Given the description of an element on the screen output the (x, y) to click on. 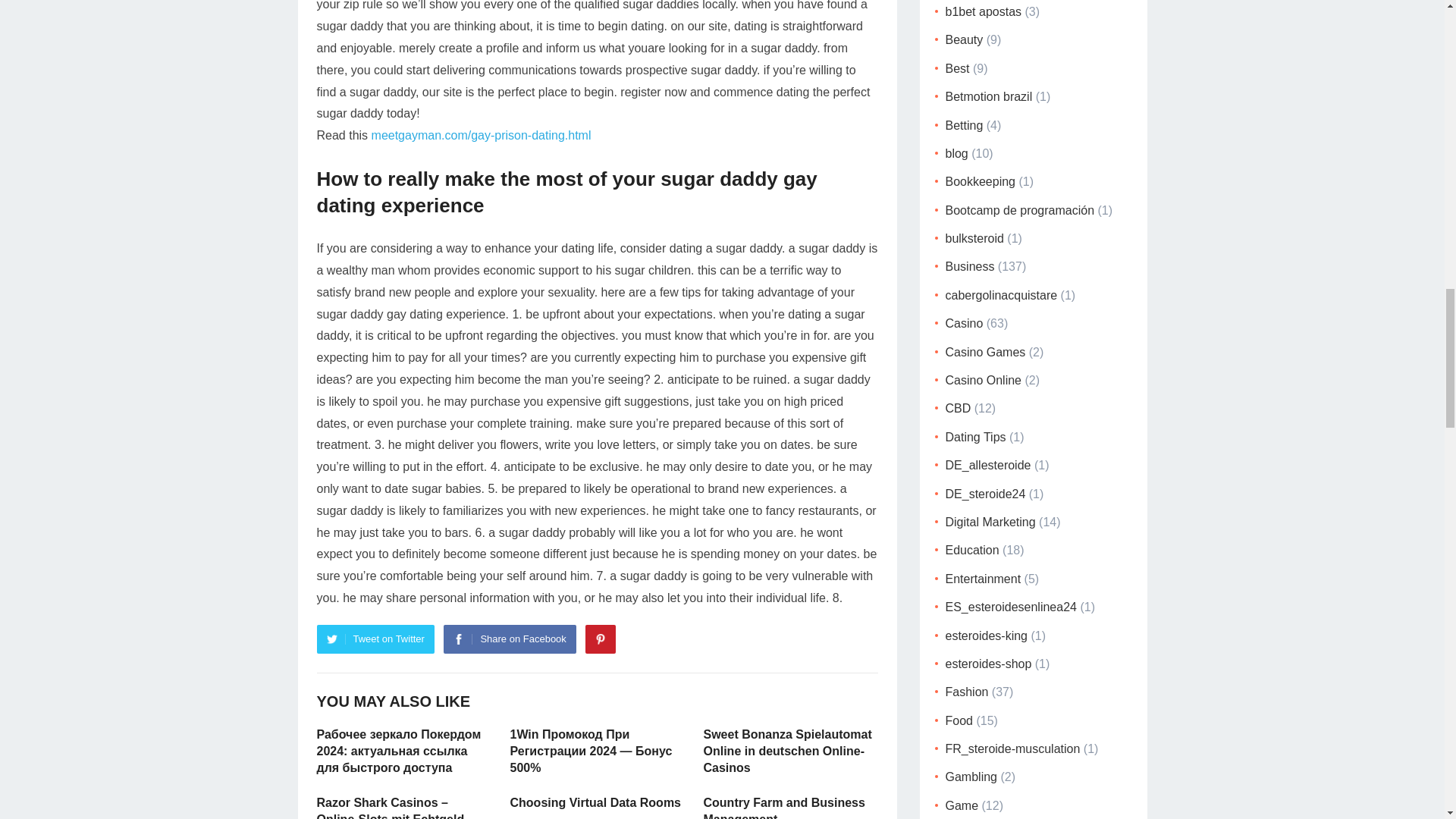
Tweet on Twitter (375, 638)
Pinterest (600, 638)
Share on Facebook (509, 638)
